Given the description of an element on the screen output the (x, y) to click on. 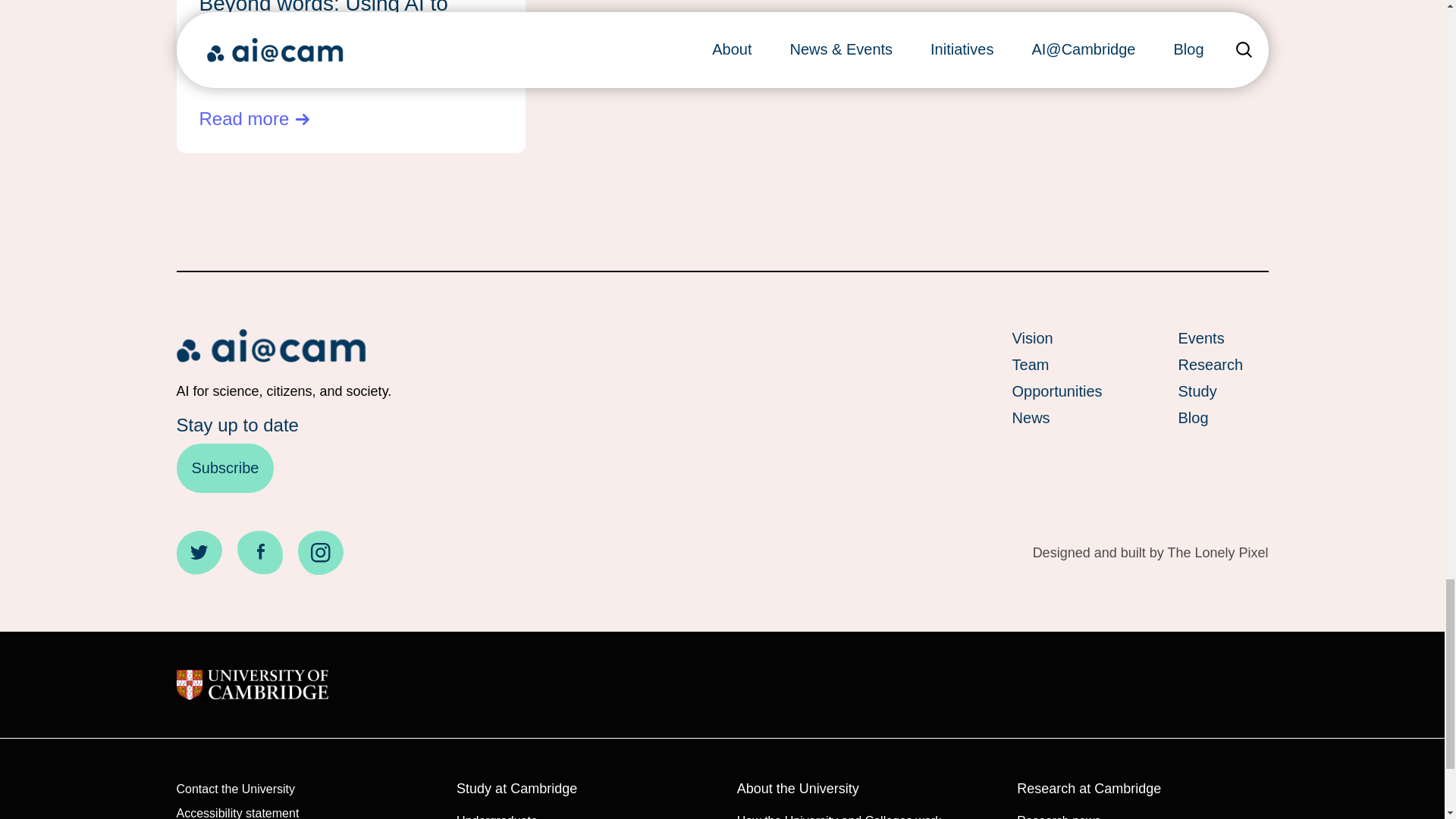
Vision (1056, 338)
Opportunities (1056, 391)
Blog (1222, 417)
Research (1222, 364)
Team (1056, 364)
News (1056, 417)
Designed and built by The Lonely Pixel (1150, 552)
Study (1222, 391)
Subscribe (224, 468)
